Given the description of an element on the screen output the (x, y) to click on. 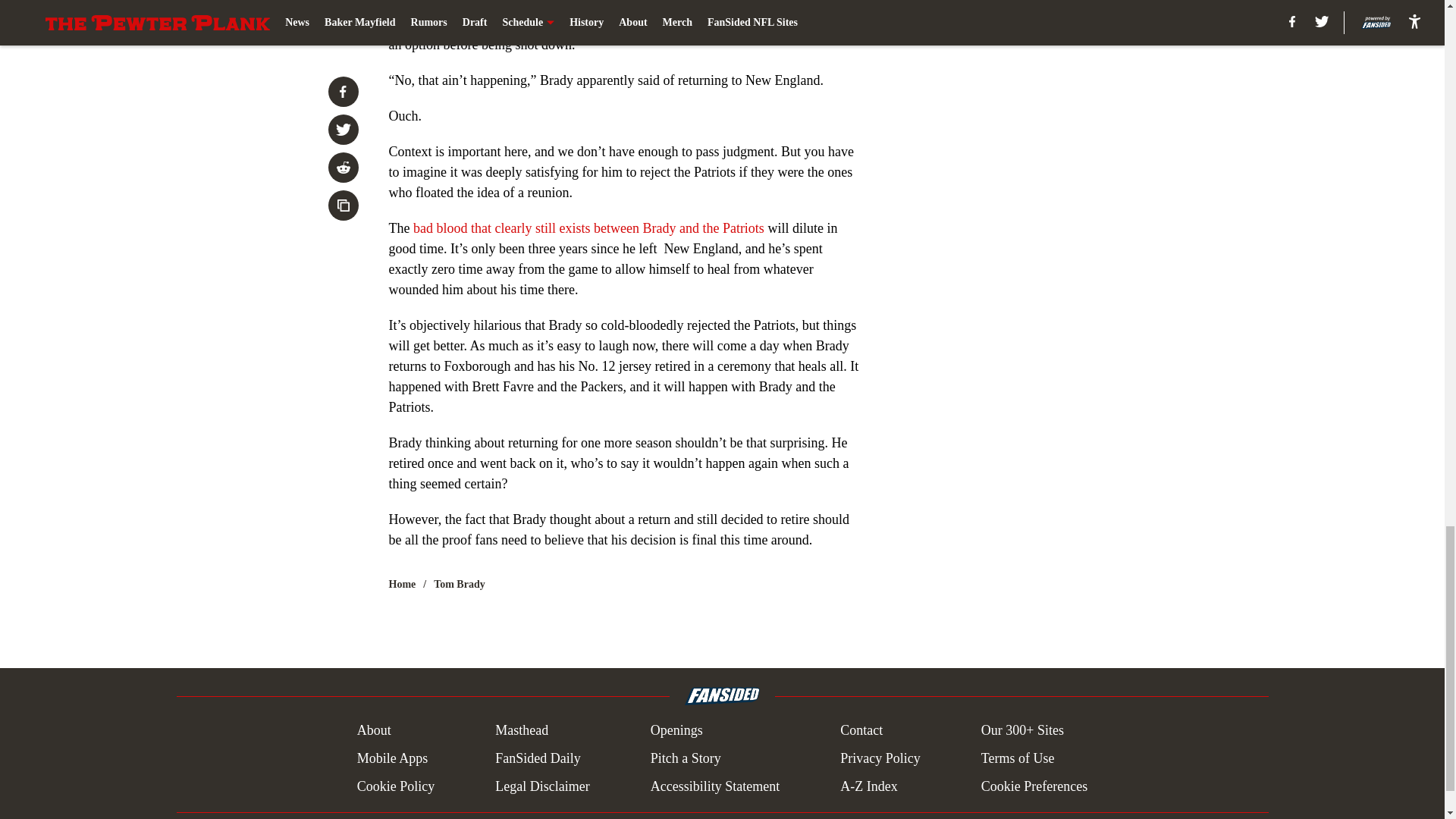
Tom Brady (458, 584)
About (373, 730)
Accessibility Statement (714, 786)
Contact (861, 730)
Mobile Apps (392, 758)
A-Z Index (868, 786)
Cookie Policy (395, 786)
Openings (676, 730)
Masthead (521, 730)
FanSided Daily (537, 758)
Home (401, 584)
Terms of Use (1017, 758)
Privacy Policy (880, 758)
Legal Disclaimer (542, 786)
